Given the description of an element on the screen output the (x, y) to click on. 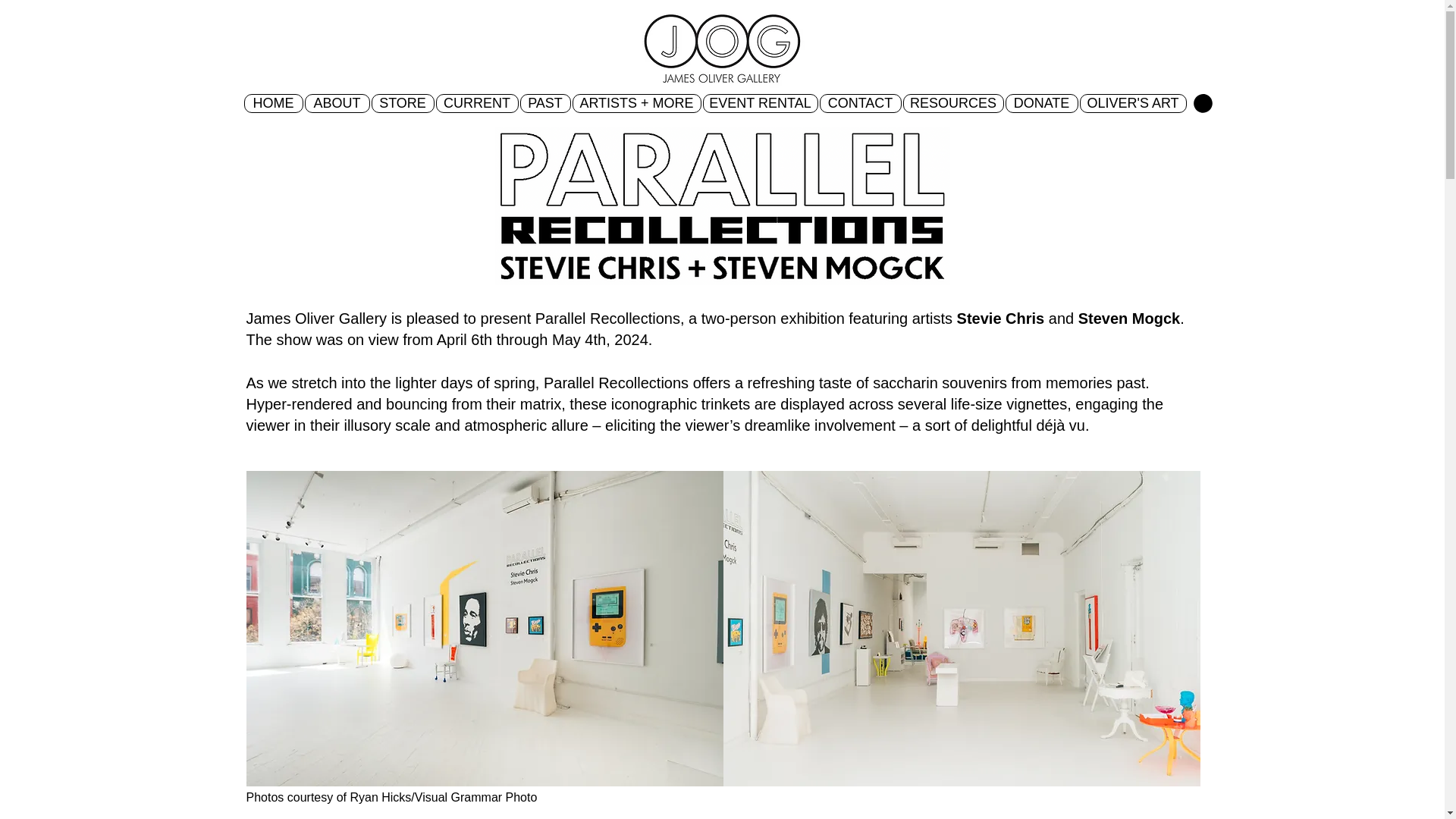
OLIVER'S ART (1133, 103)
RESOURCES (952, 103)
CONTACT (859, 103)
EVENT RENTAL (758, 103)
STORE (402, 103)
DONATE (1042, 103)
PAST (544, 103)
ABOUT (336, 103)
CURRENT (476, 103)
HOME (273, 103)
